Given the description of an element on the screen output the (x, y) to click on. 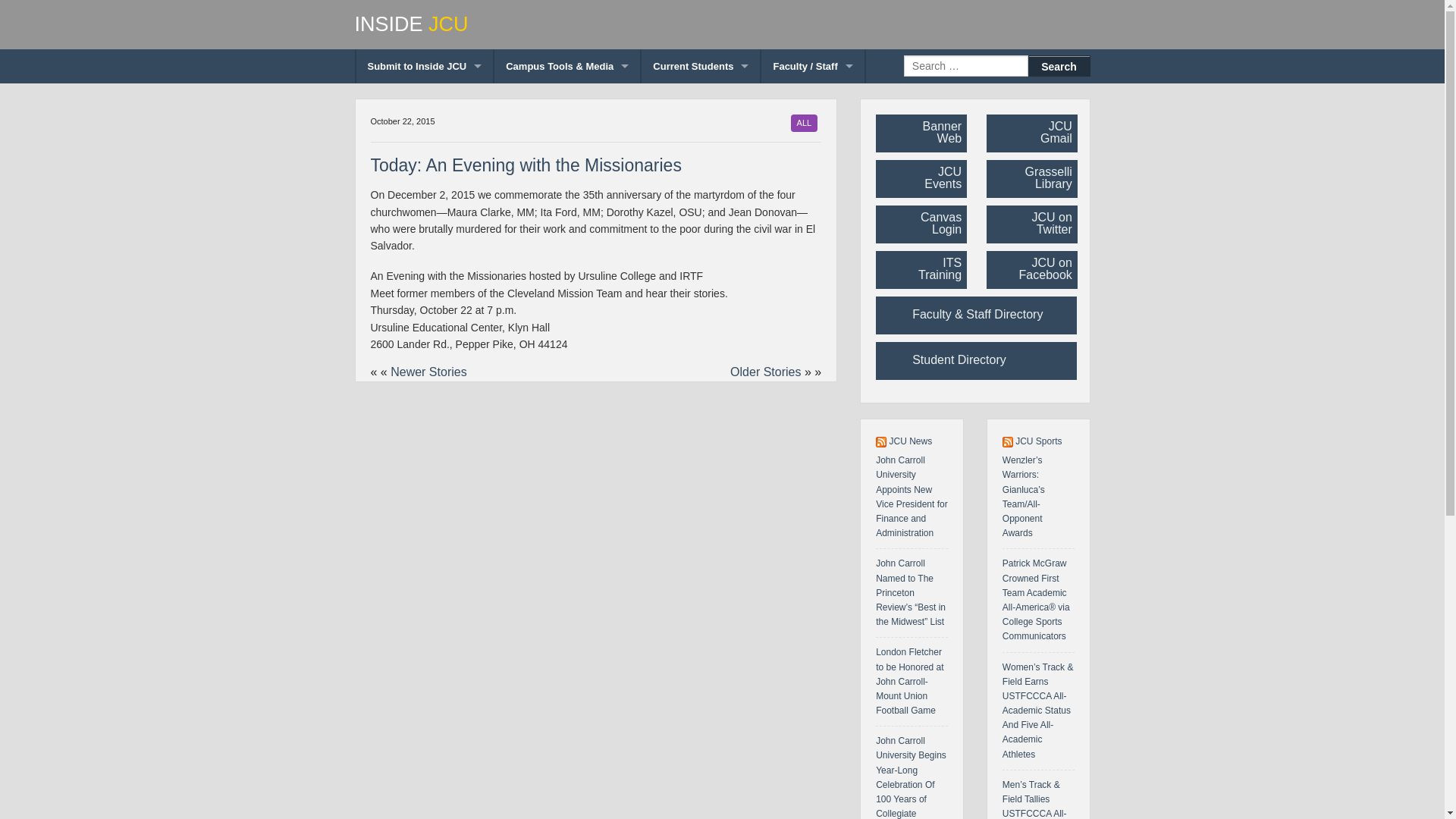
Submit to Inside JCU (424, 66)
Search for: (965, 65)
Search (1058, 65)
Current Students (701, 66)
INSIDE JCU (722, 24)
Search (1058, 65)
